Given the description of an element on the screen output the (x, y) to click on. 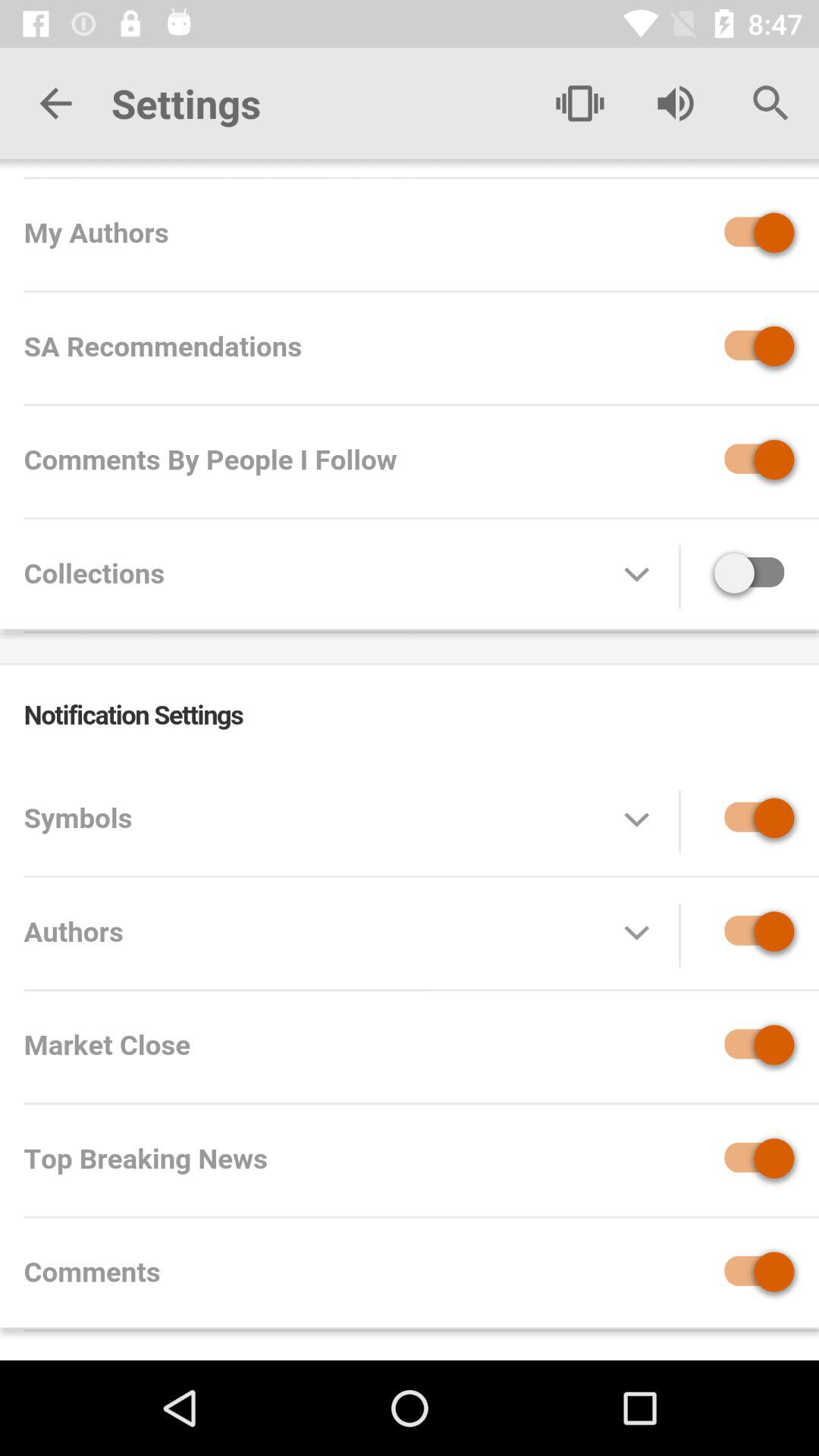
settings page (409, 759)
